Given the description of an element on the screen output the (x, y) to click on. 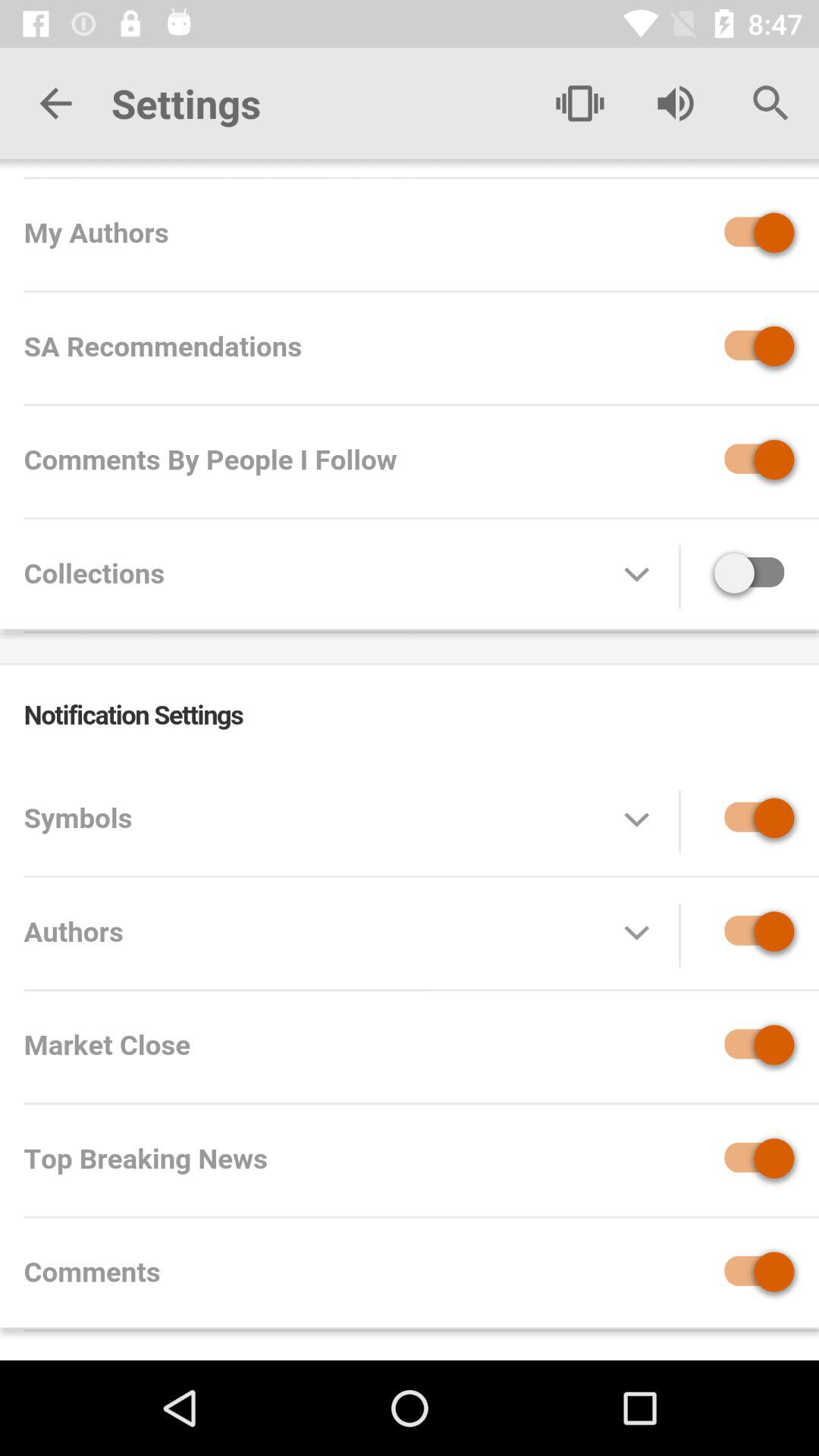
settings page (409, 759)
